Given the description of an element on the screen output the (x, y) to click on. 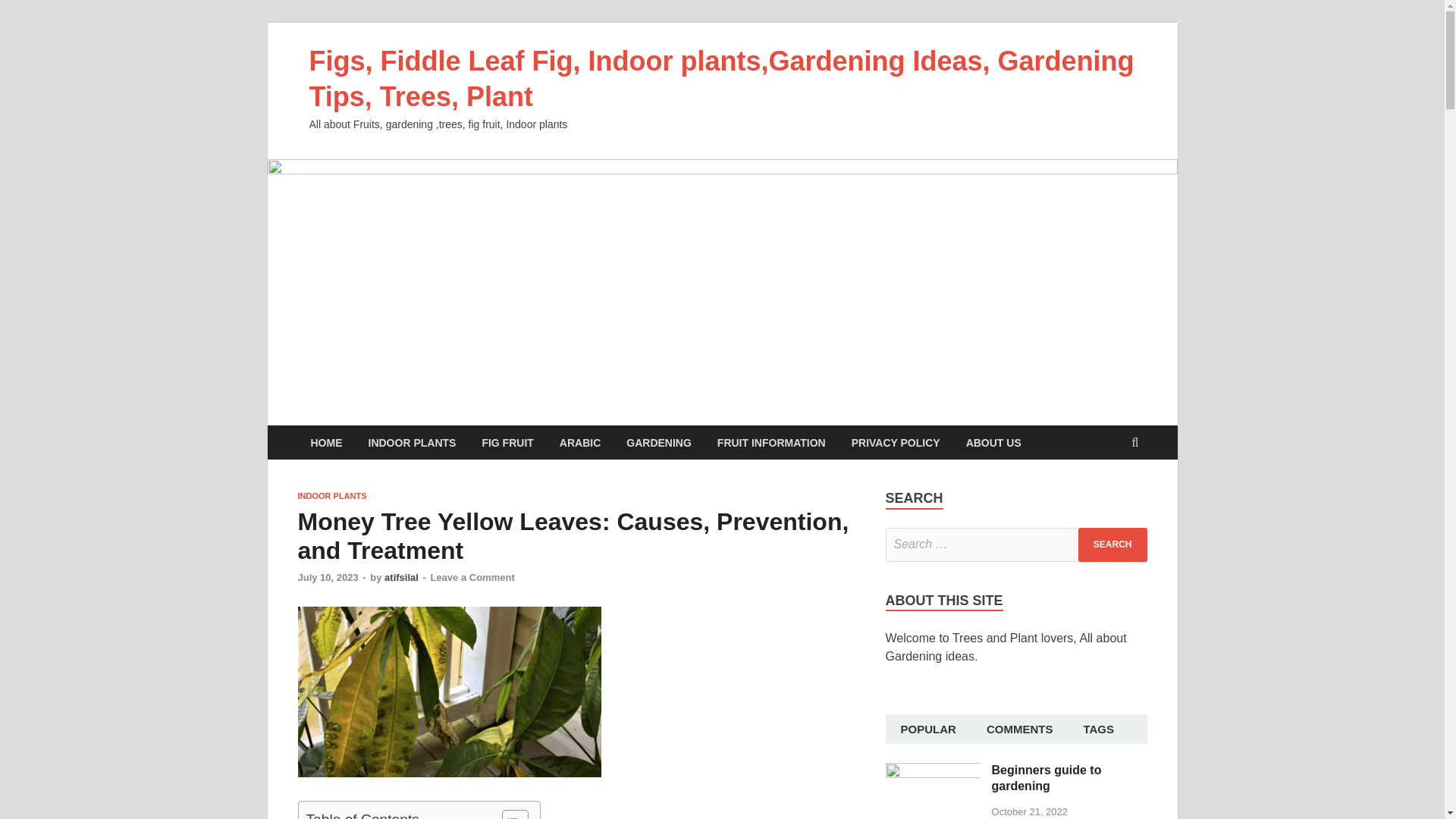
Search (1112, 544)
FRUIT INFORMATION (771, 442)
atifsilal (401, 577)
INDOOR PLANTS (331, 495)
Leave a Comment (471, 577)
HOME (326, 442)
ARABIC (579, 442)
FIG FRUIT (507, 442)
Search (1112, 544)
